Given the description of an element on the screen output the (x, y) to click on. 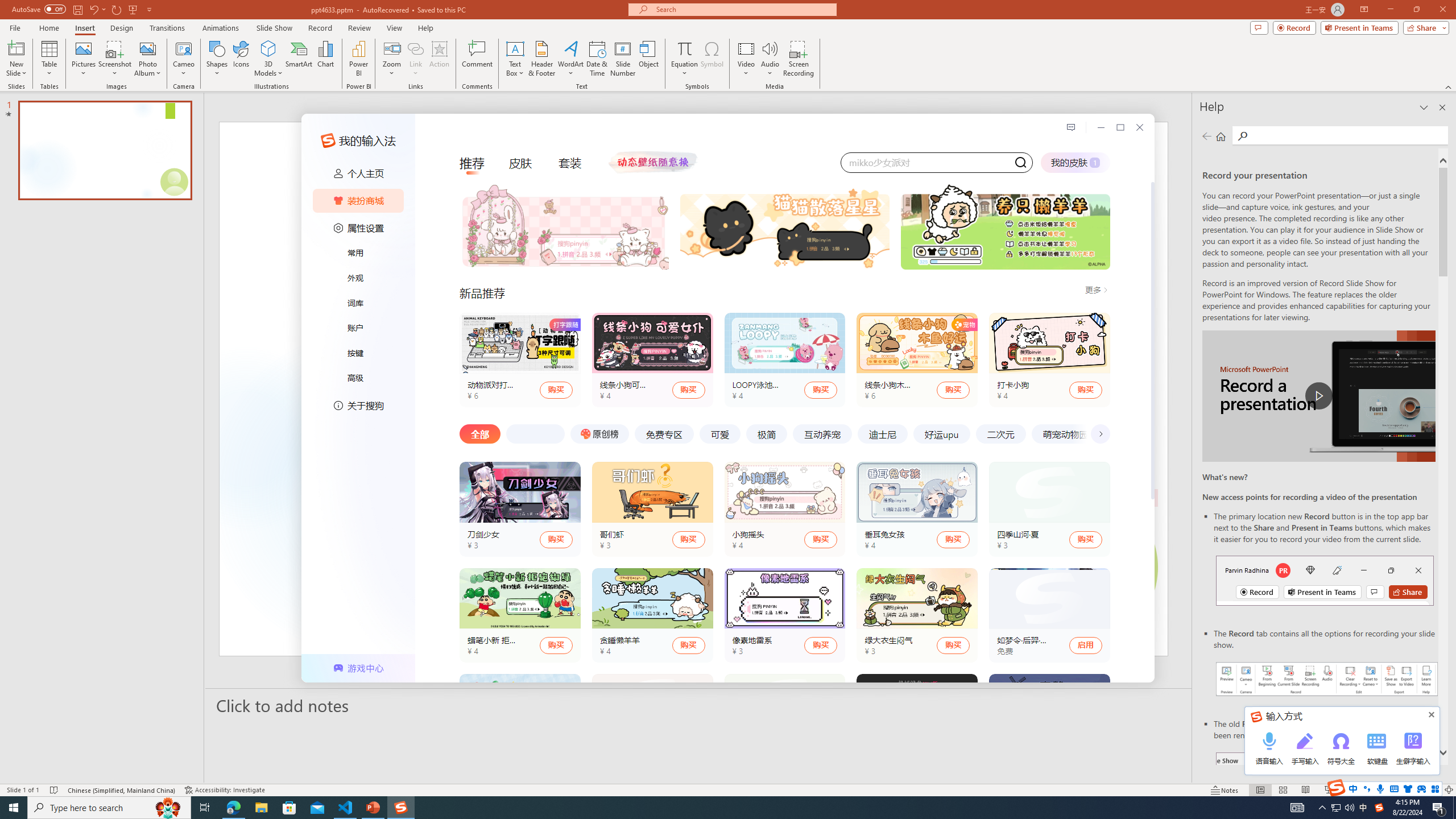
Chart... (325, 58)
Icons (240, 58)
New Photo Album... (147, 48)
